Given the description of an element on the screen output the (x, y) to click on. 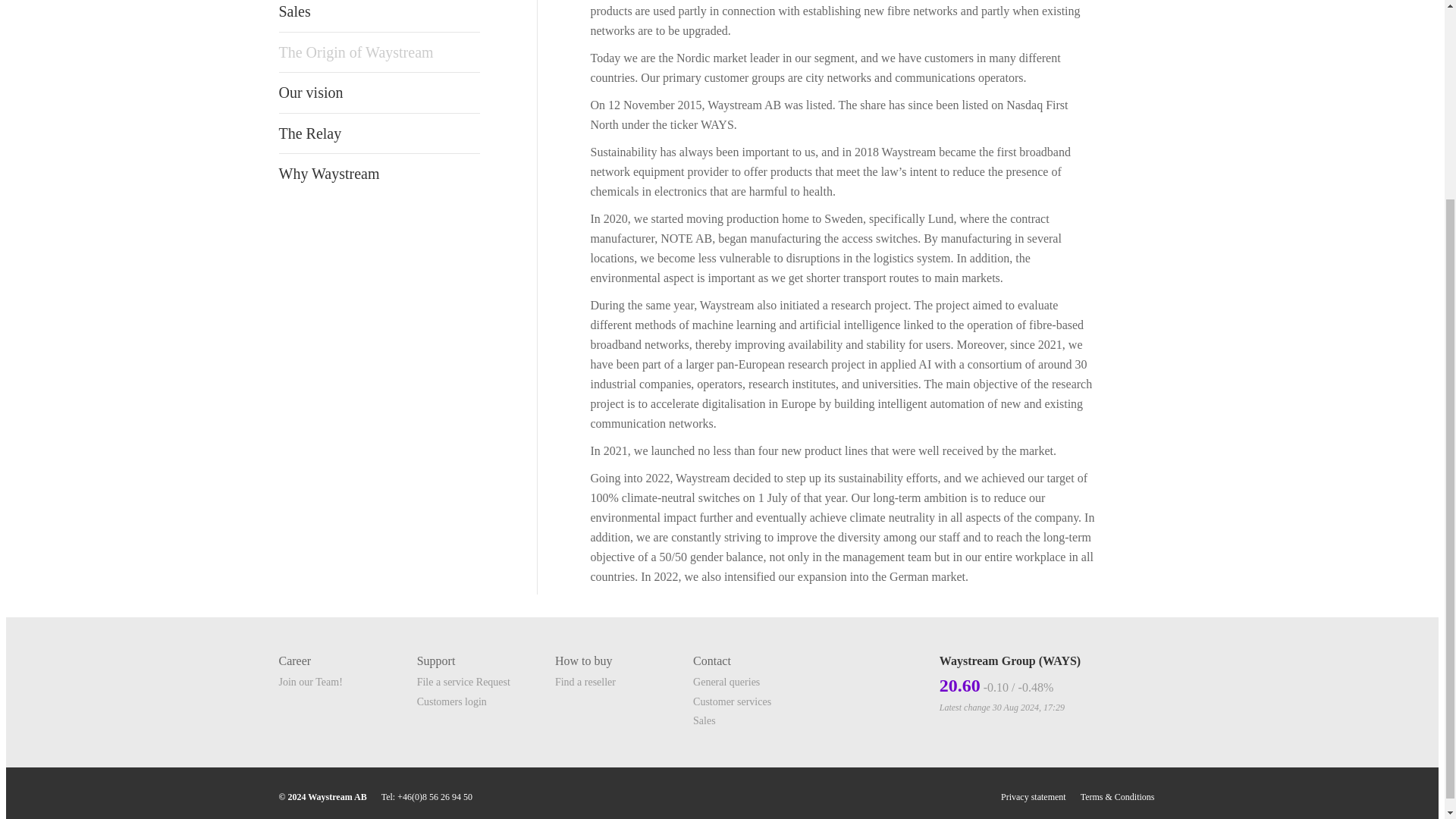
The Origin of Waystream (371, 52)
Our vision (371, 92)
Find a reseller (584, 681)
Sales (371, 12)
